Given the description of an element on the screen output the (x, y) to click on. 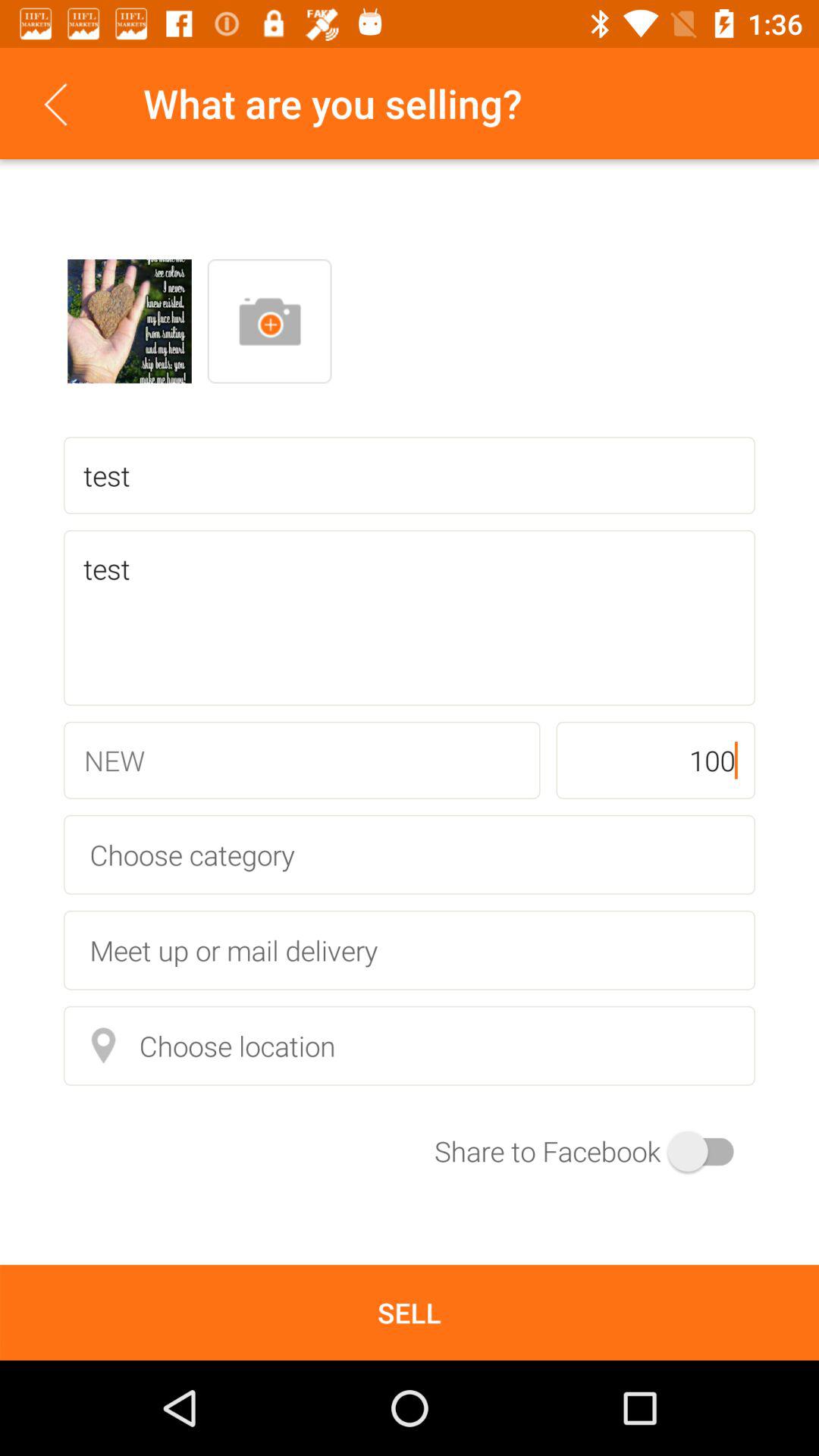
turn on icon below choose category item (409, 950)
